Given the description of an element on the screen output the (x, y) to click on. 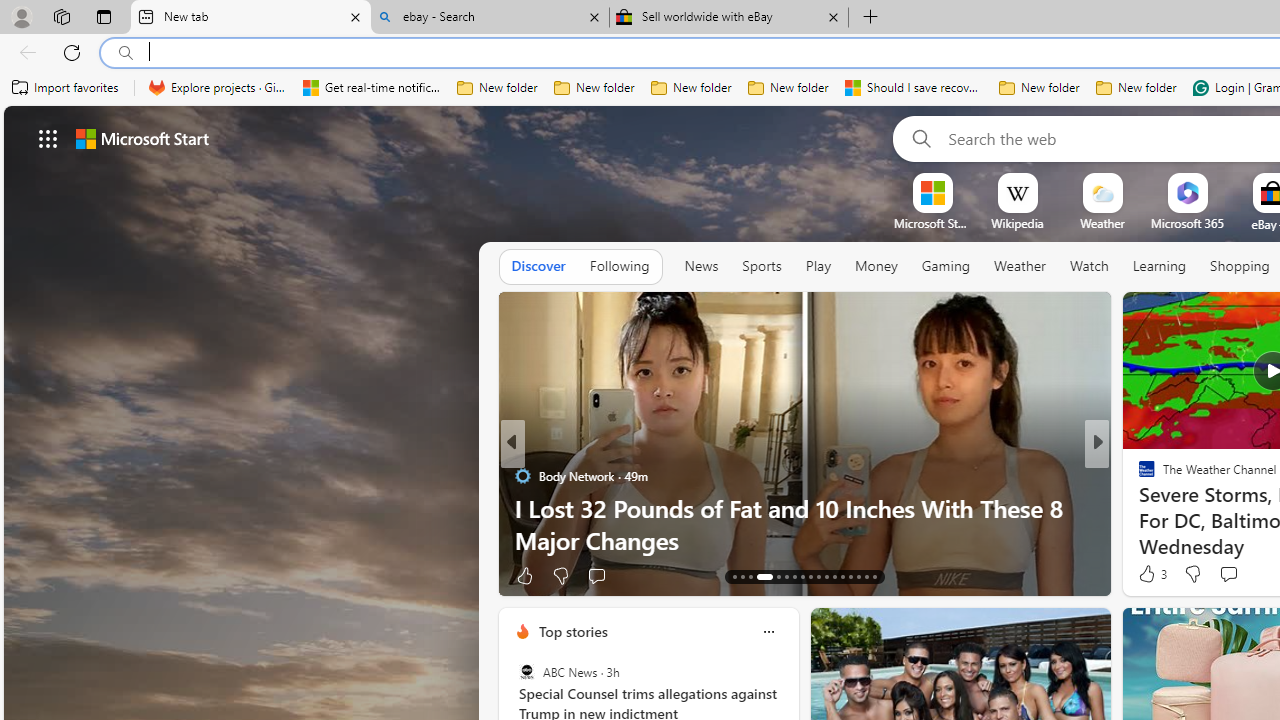
AutomationID: tab-14 (742, 576)
Weather (1020, 265)
Wikipedia (1017, 223)
More options (768, 631)
Learning (1159, 265)
Following (619, 265)
NBC News (1138, 475)
USA TODAY (1138, 475)
Top stories (572, 631)
Dailymotion (1138, 507)
Sports (761, 267)
MUO (1138, 507)
View comments 8 Comment (1234, 574)
